Given the description of an element on the screen output the (x, y) to click on. 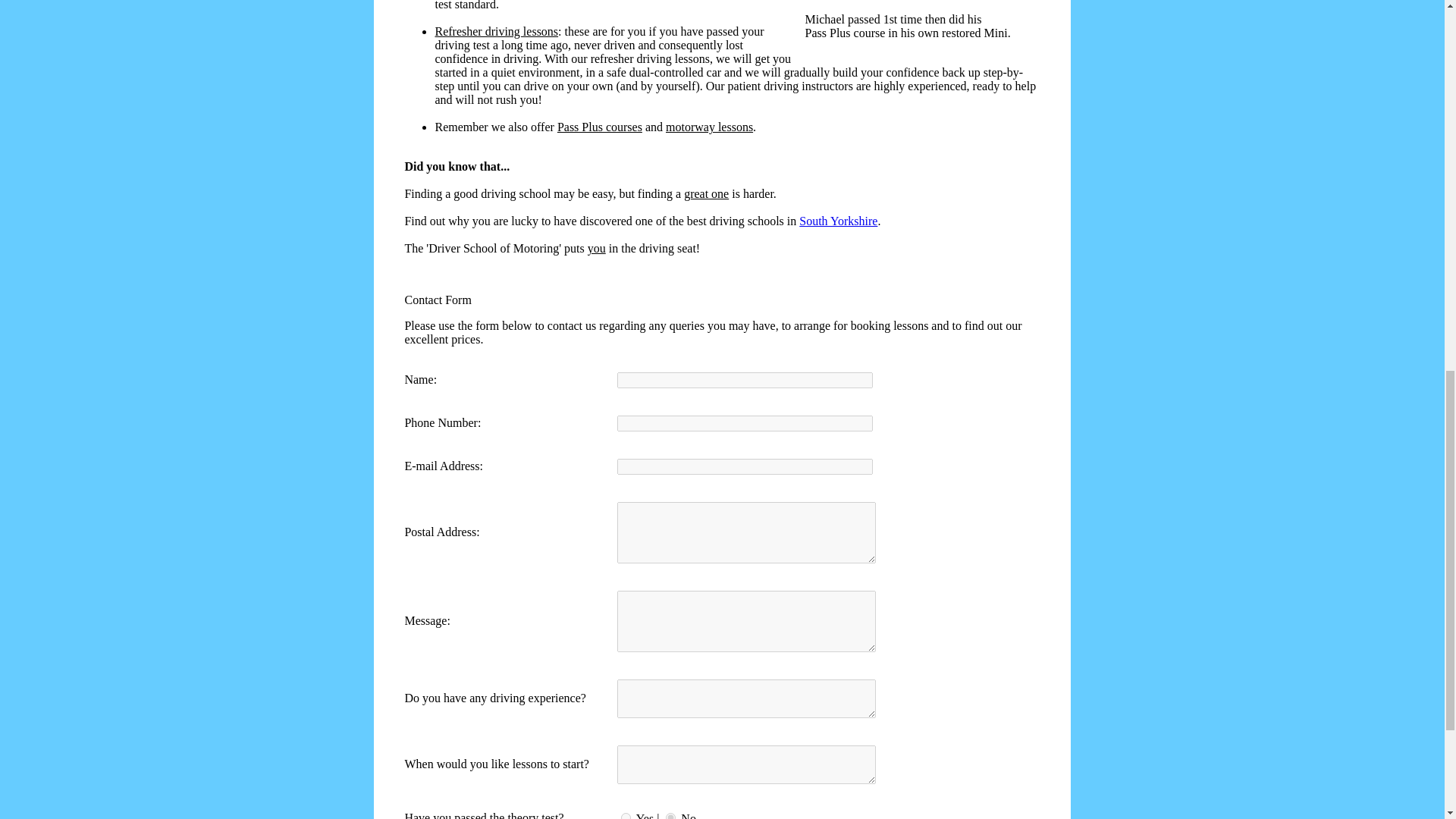
No (670, 816)
Yes (625, 816)
South Yorkshire (838, 220)
